Given the description of an element on the screen output the (x, y) to click on. 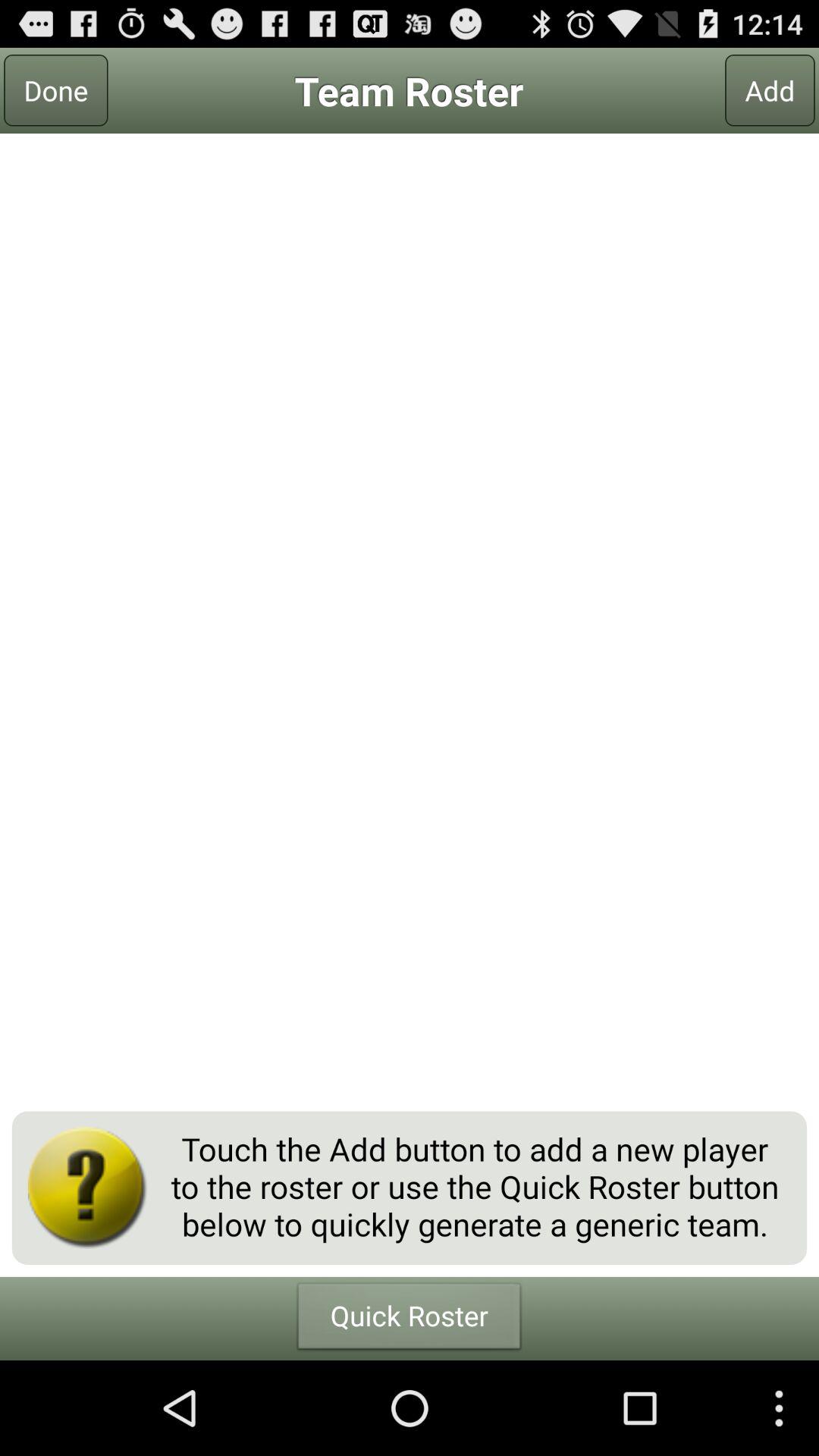
turn off the done at the top left corner (55, 90)
